Given the description of an element on the screen output the (x, y) to click on. 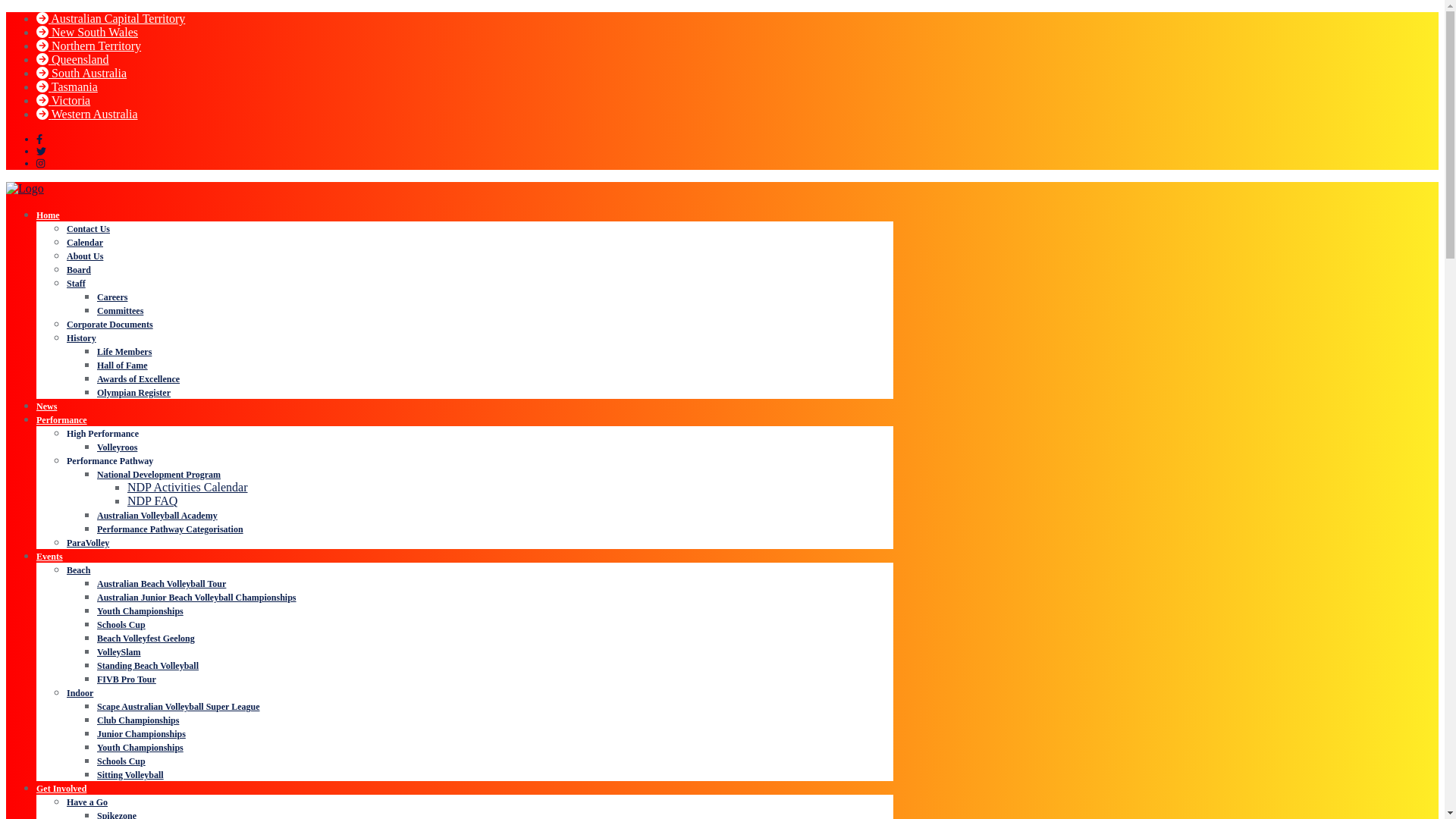
Committees Element type: text (120, 310)
Schools Cup Element type: text (121, 761)
Youth Championships Element type: text (140, 747)
Get Involved Element type: text (61, 788)
Volleyroos Element type: text (117, 447)
Careers Element type: text (112, 296)
Staff Element type: text (75, 283)
Australian Beach Volleyball Tour Element type: text (161, 583)
Calendar Element type: text (84, 242)
New South Wales Element type: text (87, 31)
Queensland Element type: text (72, 59)
Victoria Element type: text (63, 100)
Australian Capital Territory Element type: text (110, 18)
Western Australia Element type: text (87, 113)
History Element type: text (81, 337)
VolleySlam Element type: text (119, 651)
Australian Junior Beach Volleyball Championships Element type: text (196, 597)
Performance Pathway Categorisation Element type: text (170, 529)
Have a Go Element type: text (86, 802)
Beach Volleyfest Geelong Element type: text (145, 638)
Hall of Fame Element type: text (122, 365)
Northern Territory Element type: text (88, 45)
Youth Championships Element type: text (140, 610)
Performance Element type: text (61, 419)
NDP FAQ Element type: text (152, 500)
Olympian Register Element type: text (133, 392)
Beach Element type: text (78, 569)
High Performance Element type: text (102, 433)
NDP Activities Calendar Element type: text (187, 486)
Junior Championships Element type: text (141, 733)
Corporate Documents Element type: text (109, 324)
Standing Beach Volleyball Element type: text (147, 665)
Tasmania Element type: text (66, 86)
Awards of Excellence Element type: text (138, 378)
Performance Pathway Element type: text (109, 460)
Board Element type: text (78, 269)
Club Championships Element type: text (137, 720)
FIVB Pro Tour Element type: text (126, 679)
Contact Us Element type: text (87, 228)
About Us Element type: text (84, 256)
Sitting Volleyball Element type: text (130, 774)
Home Element type: text (47, 215)
Australian Volleyball Academy Element type: text (157, 515)
Indoor Element type: text (79, 692)
Life Members Element type: text (124, 351)
Scape Australian Volleyball Super League Element type: text (178, 706)
Schools Cup Element type: text (121, 624)
ParaVolley Element type: text (87, 542)
National Development Program Element type: text (158, 474)
News Element type: text (46, 406)
Events Element type: text (49, 556)
South Australia Element type: text (81, 72)
